Given the description of an element on the screen output the (x, y) to click on. 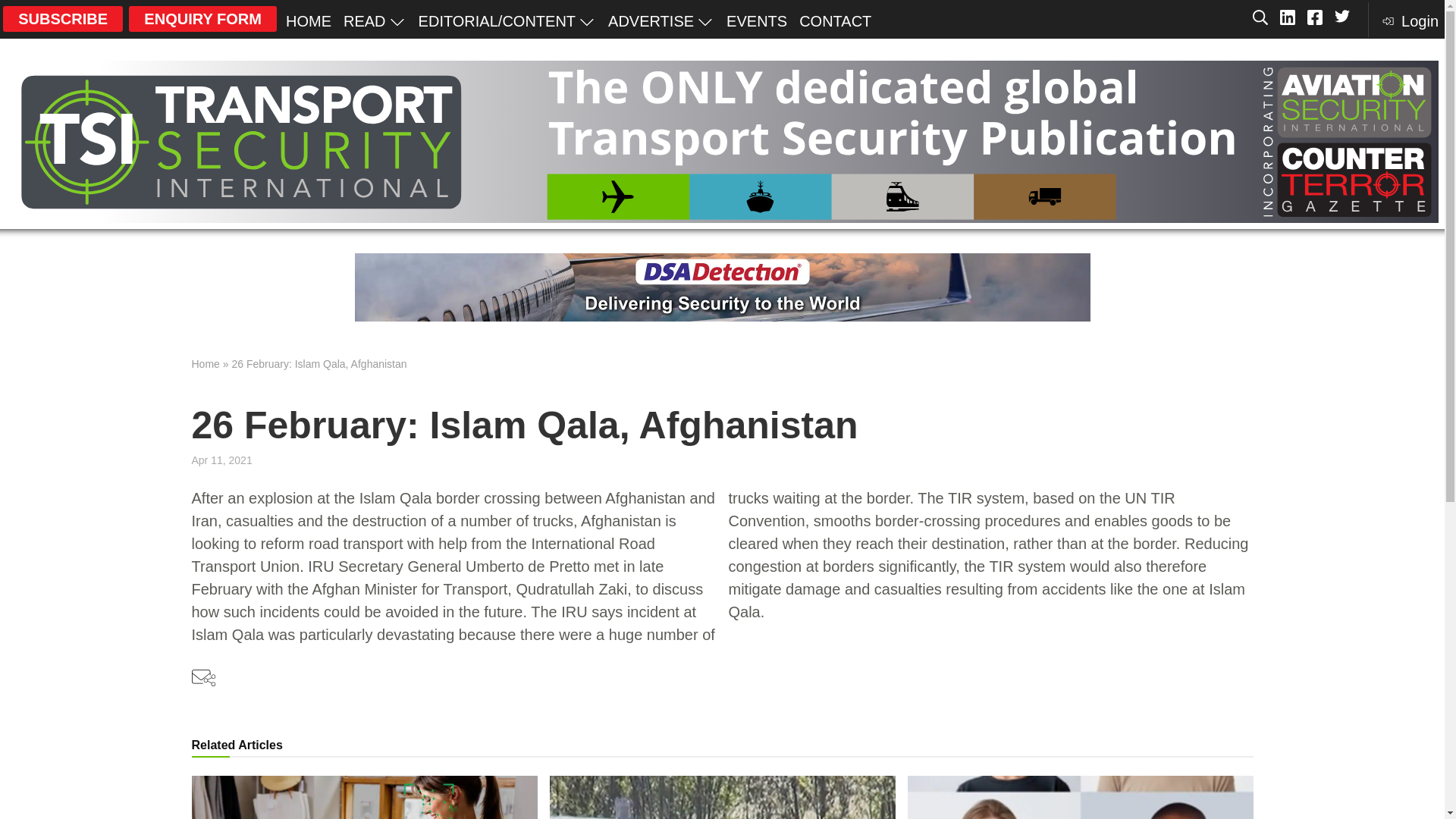
Transport Security International Magazine Facebook Page (1314, 18)
ENQUIRY FORM (202, 18)
CONTACT (835, 20)
READ (374, 20)
Login (1409, 20)
Share by Email (202, 679)
Home (204, 363)
HOME (308, 20)
